Given the description of an element on the screen output the (x, y) to click on. 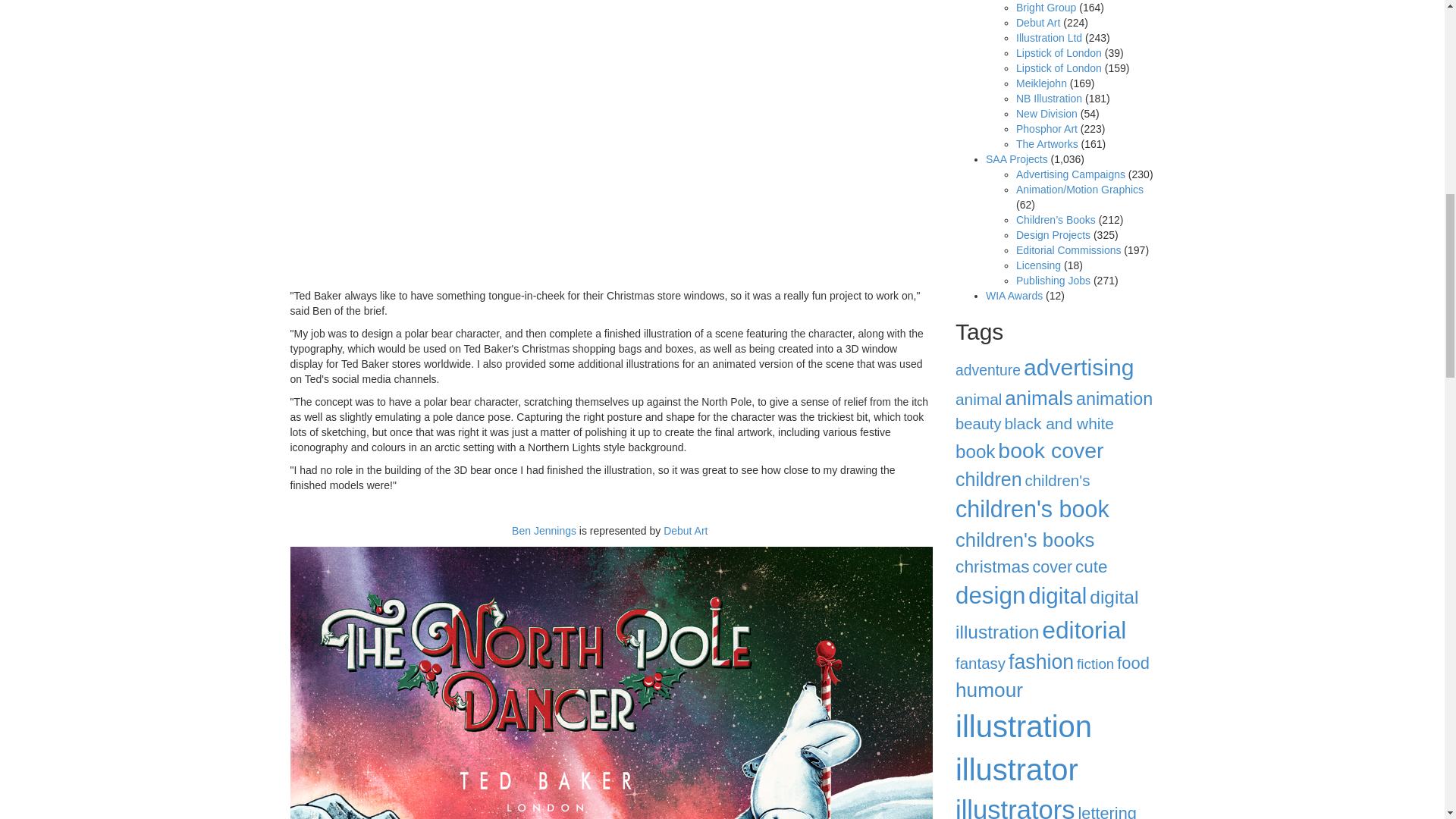
Ben Jennings (544, 530)
Debut Art  (686, 530)
